Given the description of an element on the screen output the (x, y) to click on. 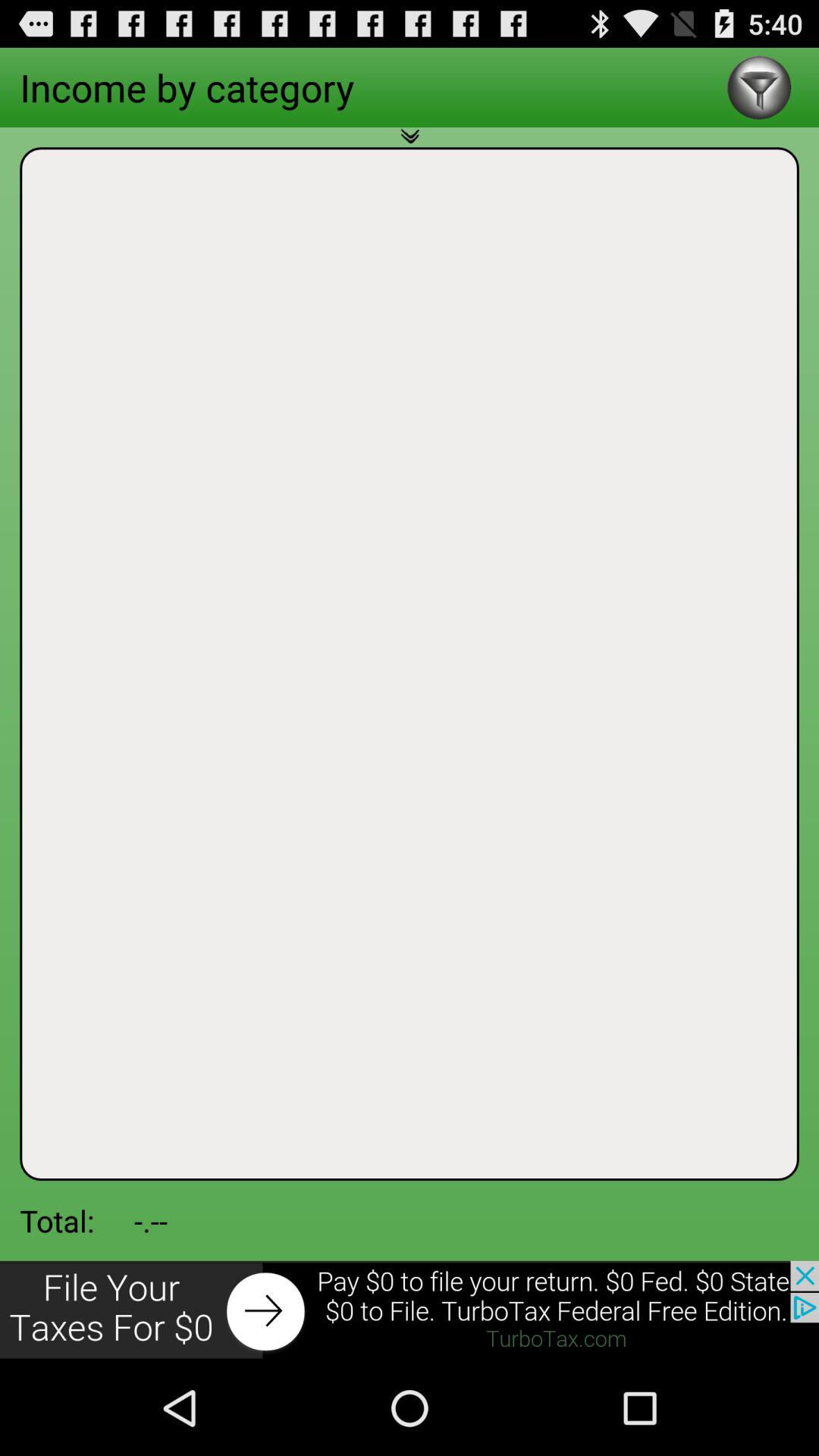
show filters (759, 87)
